Given the description of an element on the screen output the (x, y) to click on. 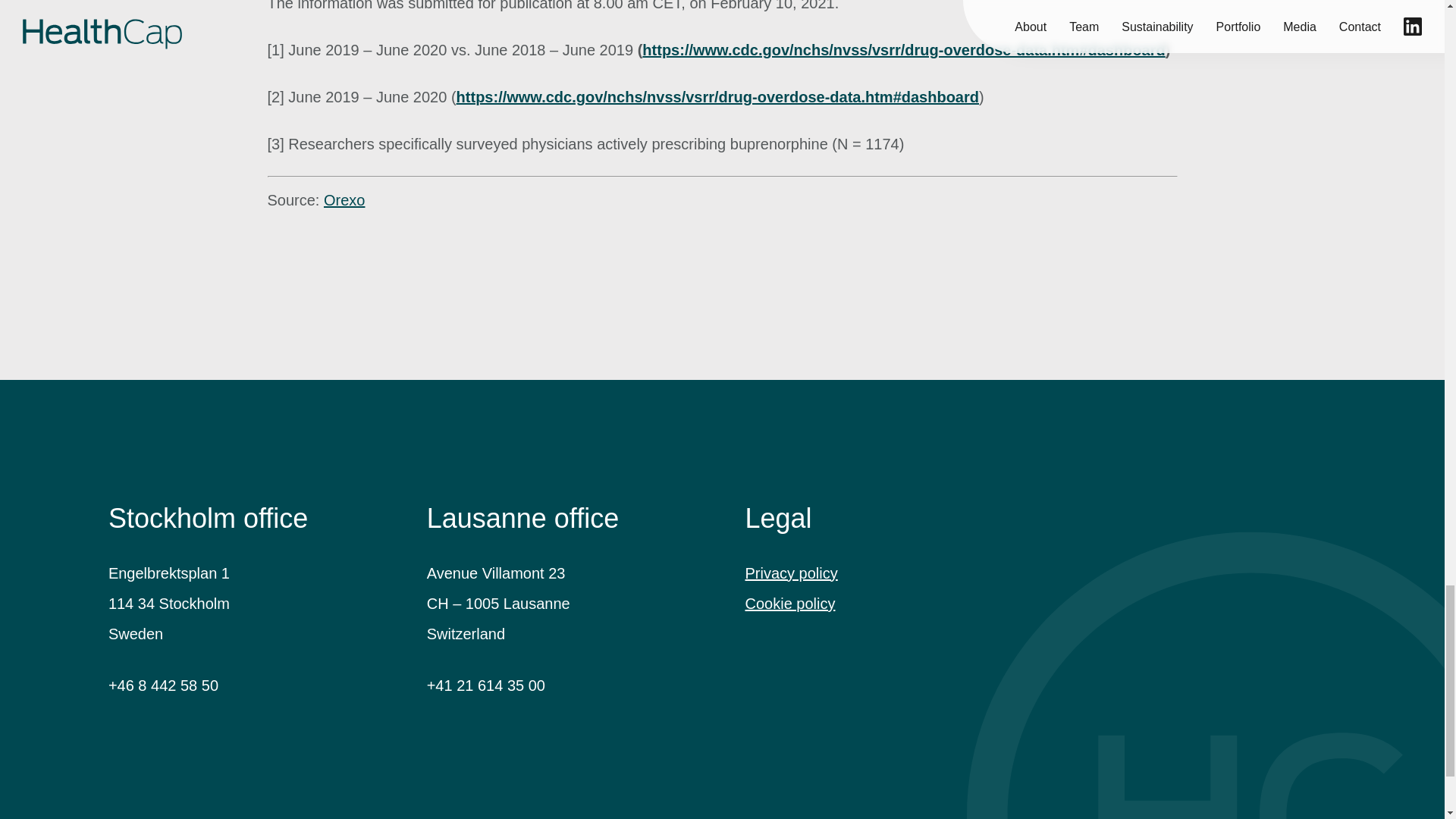
Cookie policy (789, 603)
Orexo (344, 199)
Privacy policy (790, 573)
